Given the description of an element on the screen output the (x, y) to click on. 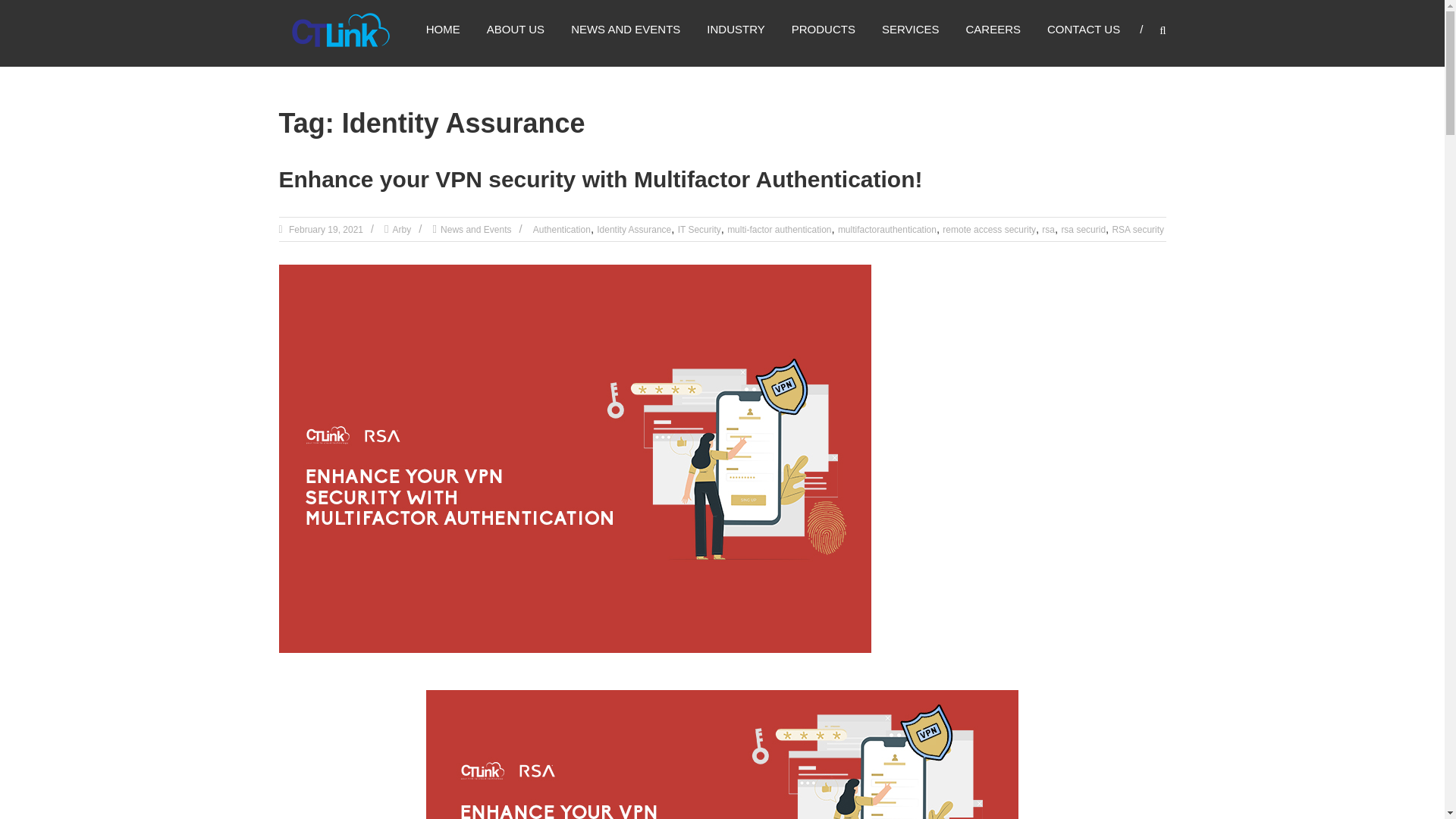
Arby (402, 229)
PRODUCTS (824, 29)
CAREERS (994, 29)
INDUSTRY (735, 29)
SERVICES (910, 29)
NEWS AND EVENTS (624, 29)
3:37 pm (324, 229)
Enhance your VPN security with Multifactor Authentication! (601, 179)
Search (1232, 409)
CONTACT US (1082, 29)
Arby (402, 229)
Enhance your VPN security with Multifactor Authentication! (601, 179)
HOME (443, 29)
February 19, 2021 (324, 229)
ABOUT US (515, 29)
